Given the description of an element on the screen output the (x, y) to click on. 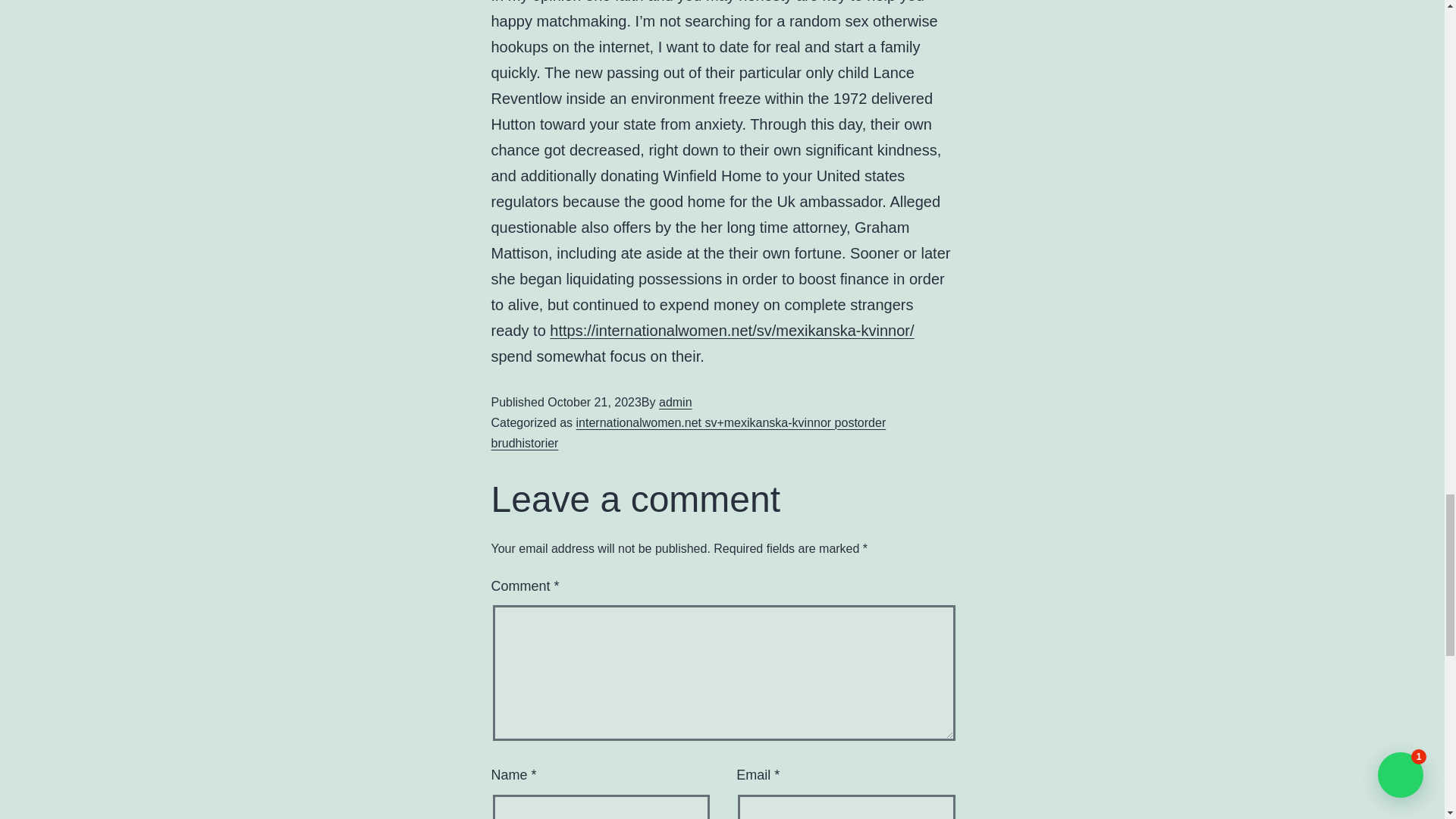
admin (676, 401)
